Given the description of an element on the screen output the (x, y) to click on. 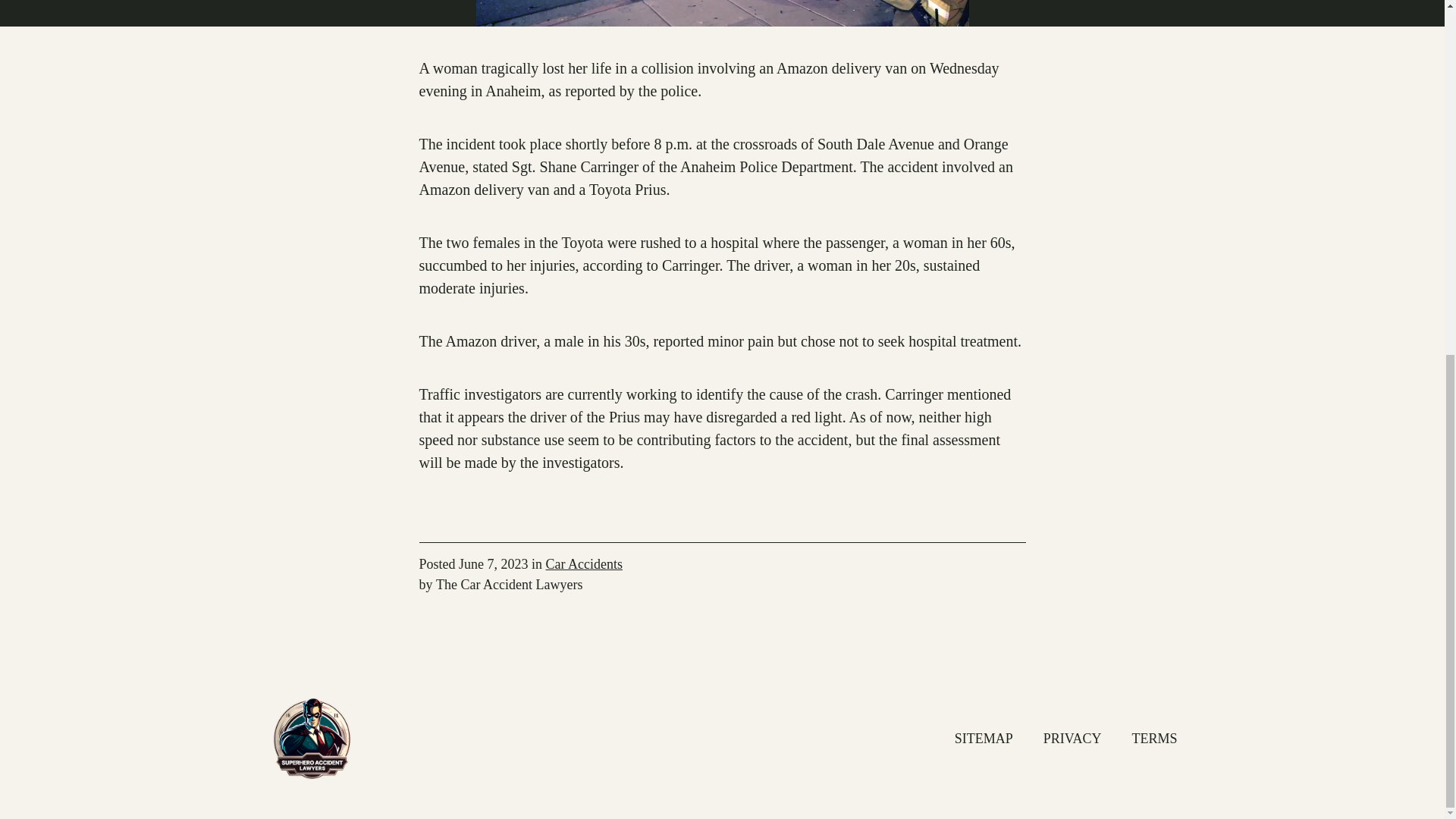
Car Accidents (584, 563)
PRIVACY (1072, 738)
SITEMAP (984, 738)
TERMS (1153, 738)
